Given the description of an element on the screen output the (x, y) to click on. 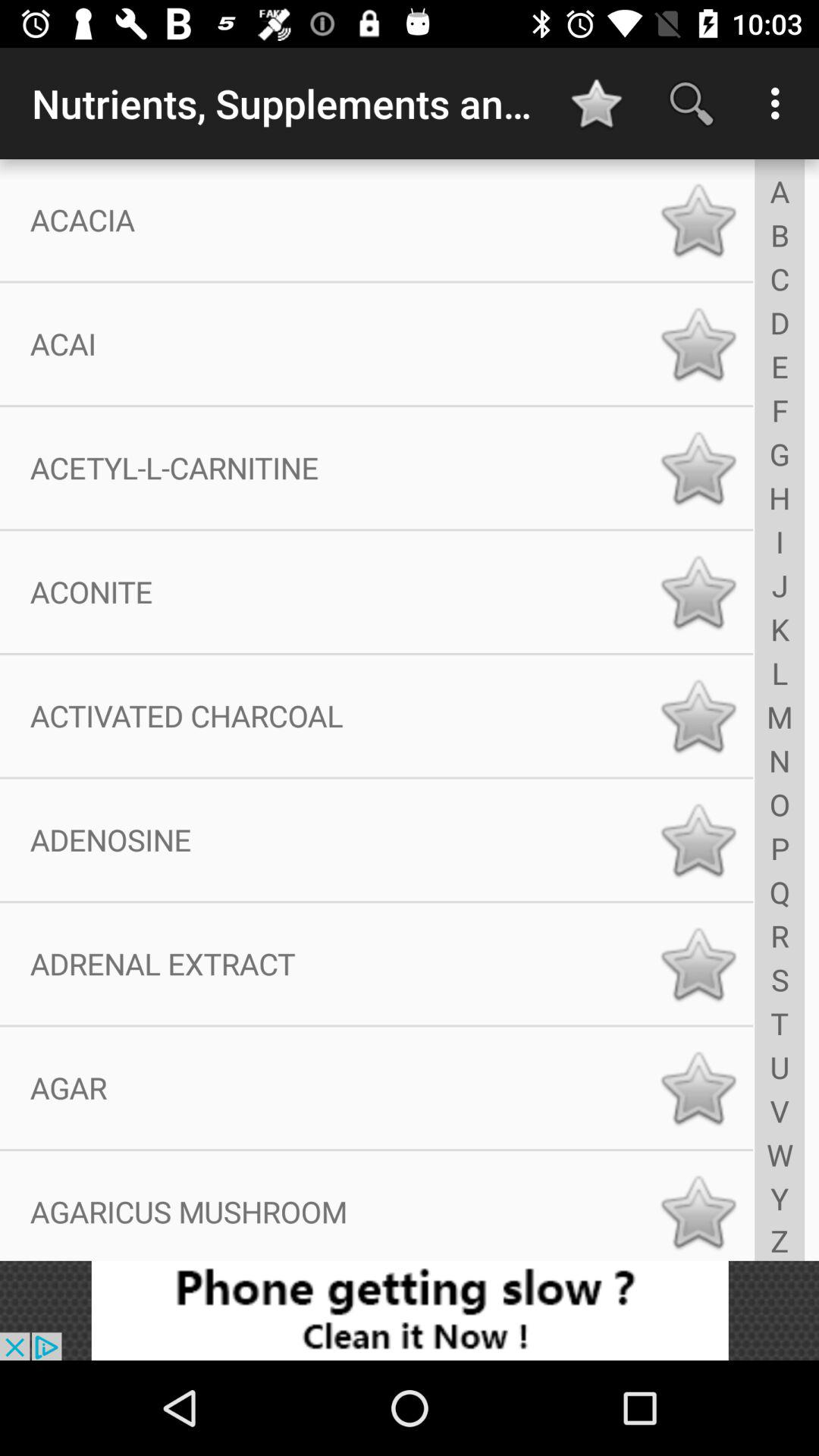
click bottom advertisement (409, 1310)
